Given the description of an element on the screen output the (x, y) to click on. 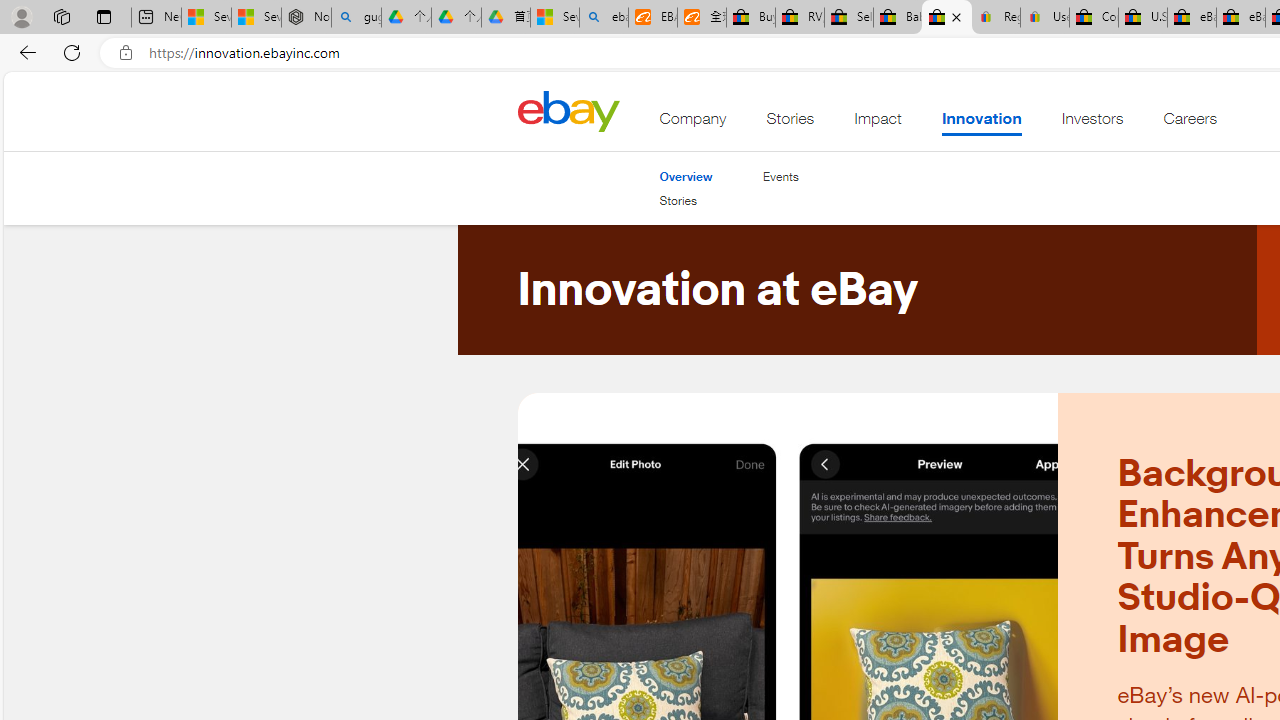
ebay - Search (603, 17)
RV, Trailer & Camper Steps & Ladders for sale | eBay (799, 17)
Buy Auto Parts & Accessories | eBay (750, 17)
Investors (1092, 123)
guge yunpan - Search (356, 17)
eBay Inc. Reports Third Quarter 2023 Results (1240, 17)
Innovation (980, 123)
Impact (877, 123)
